Given the description of an element on the screen output the (x, y) to click on. 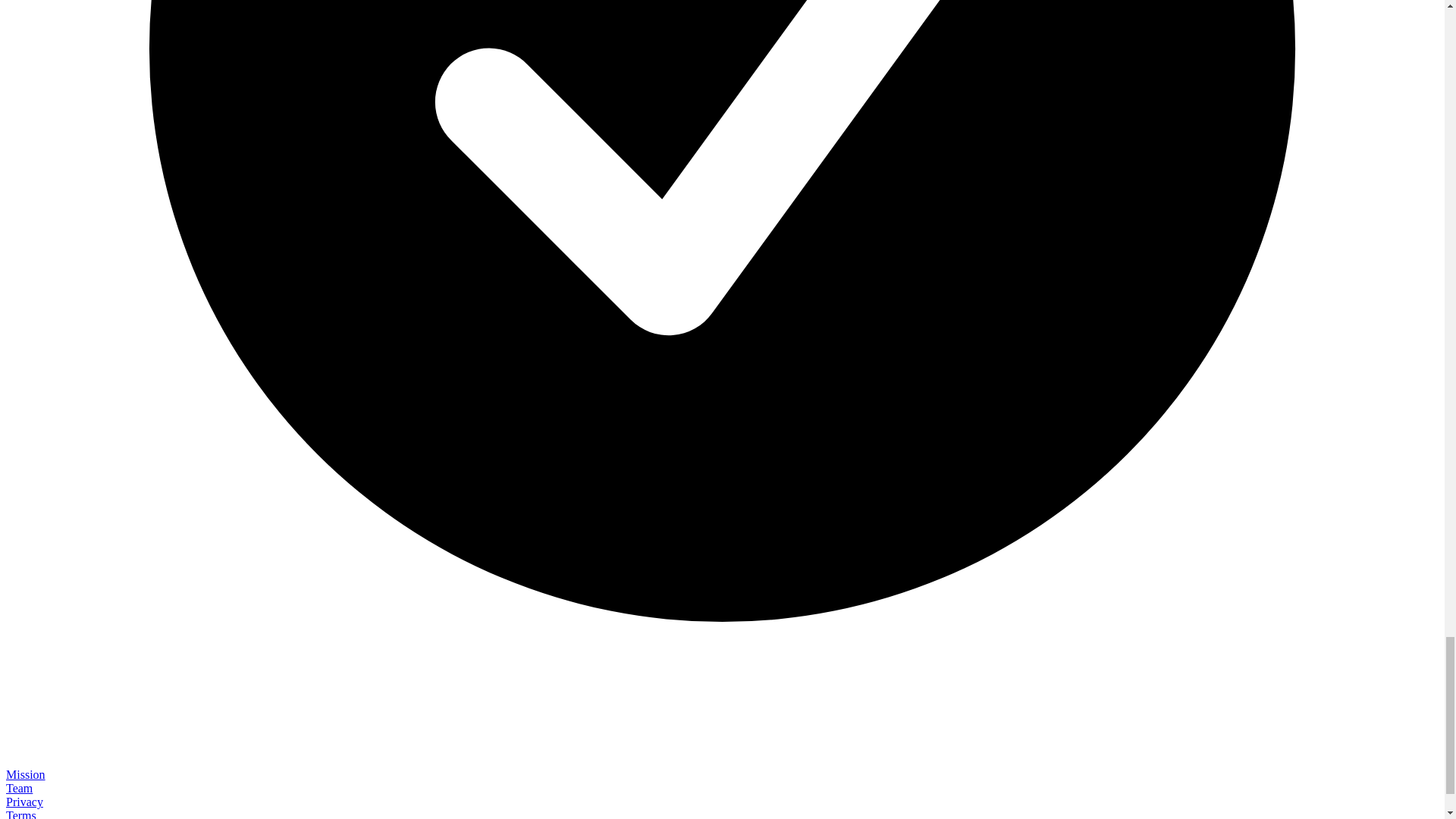
Terms (20, 814)
Team (18, 788)
Mission (25, 774)
Privacy (24, 801)
